Given the description of an element on the screen output the (x, y) to click on. 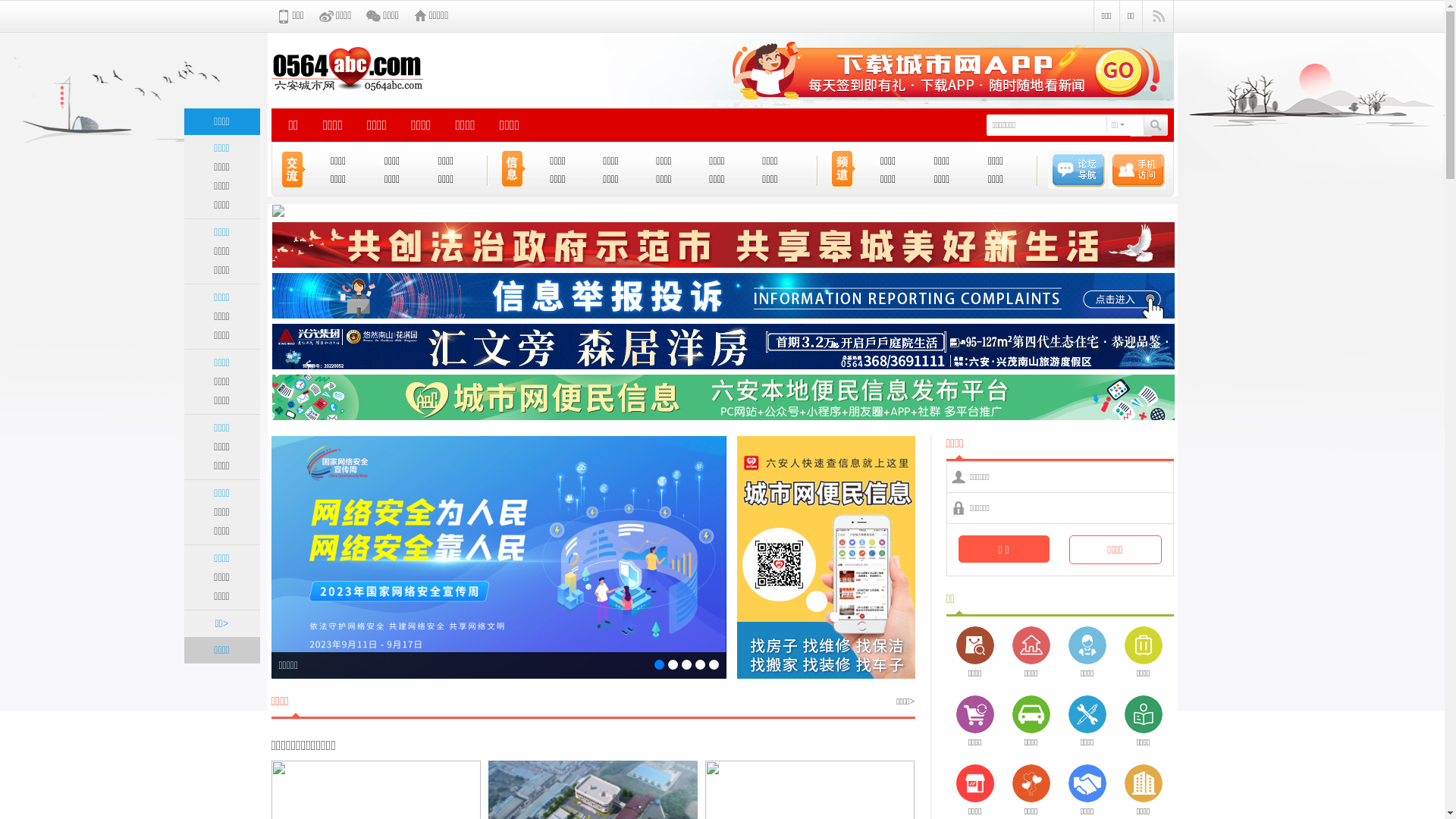
   Element type: text (1140, 125)
